Given the description of an element on the screen output the (x, y) to click on. 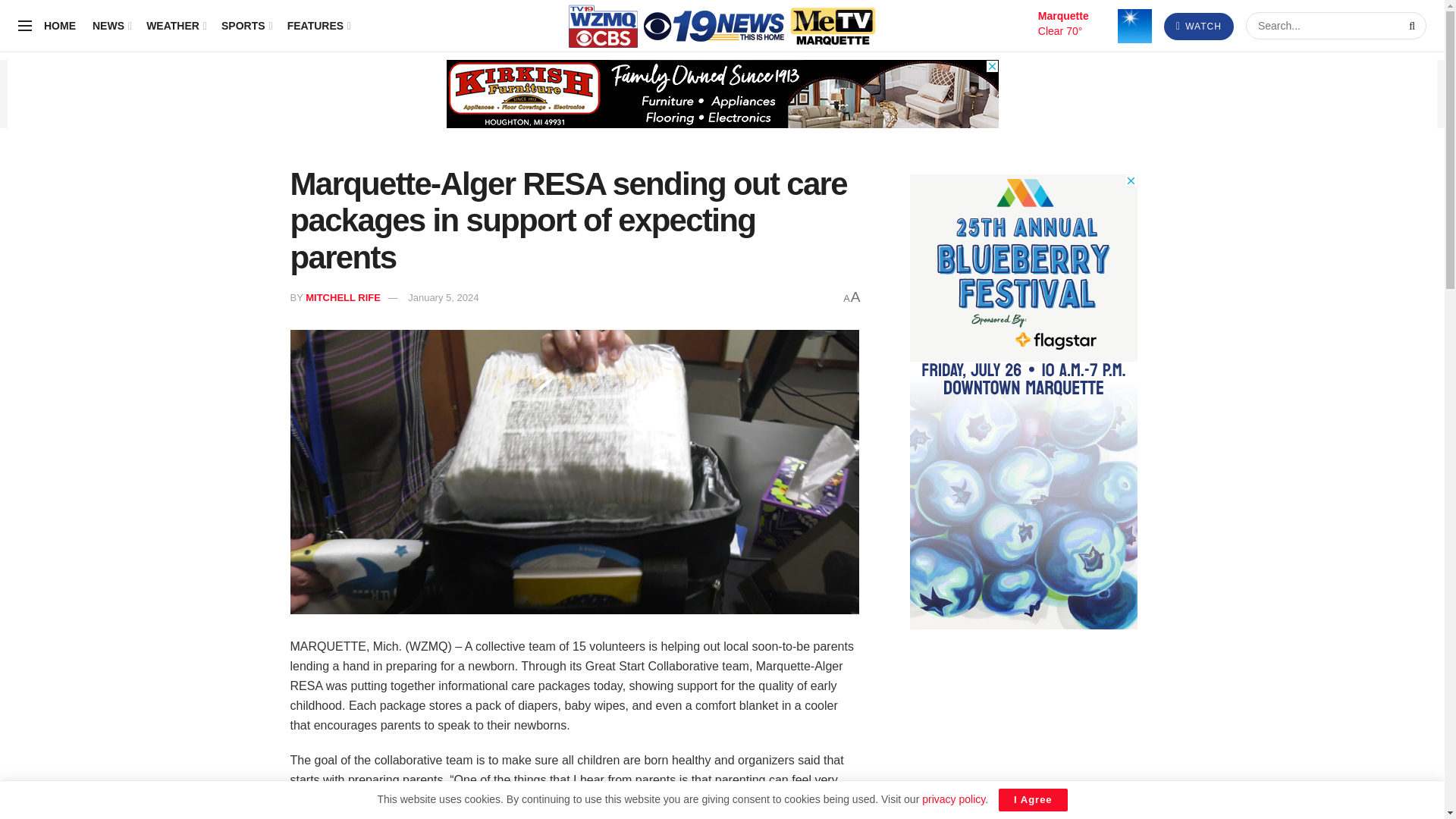
3rd party ad content (1023, 401)
FEATURES (317, 25)
WEATHER (176, 25)
WATCH (1198, 26)
NEWS (111, 25)
3rd party ad content (721, 93)
SPORTS (245, 25)
HOME (59, 25)
